Given the description of an element on the screen output the (x, y) to click on. 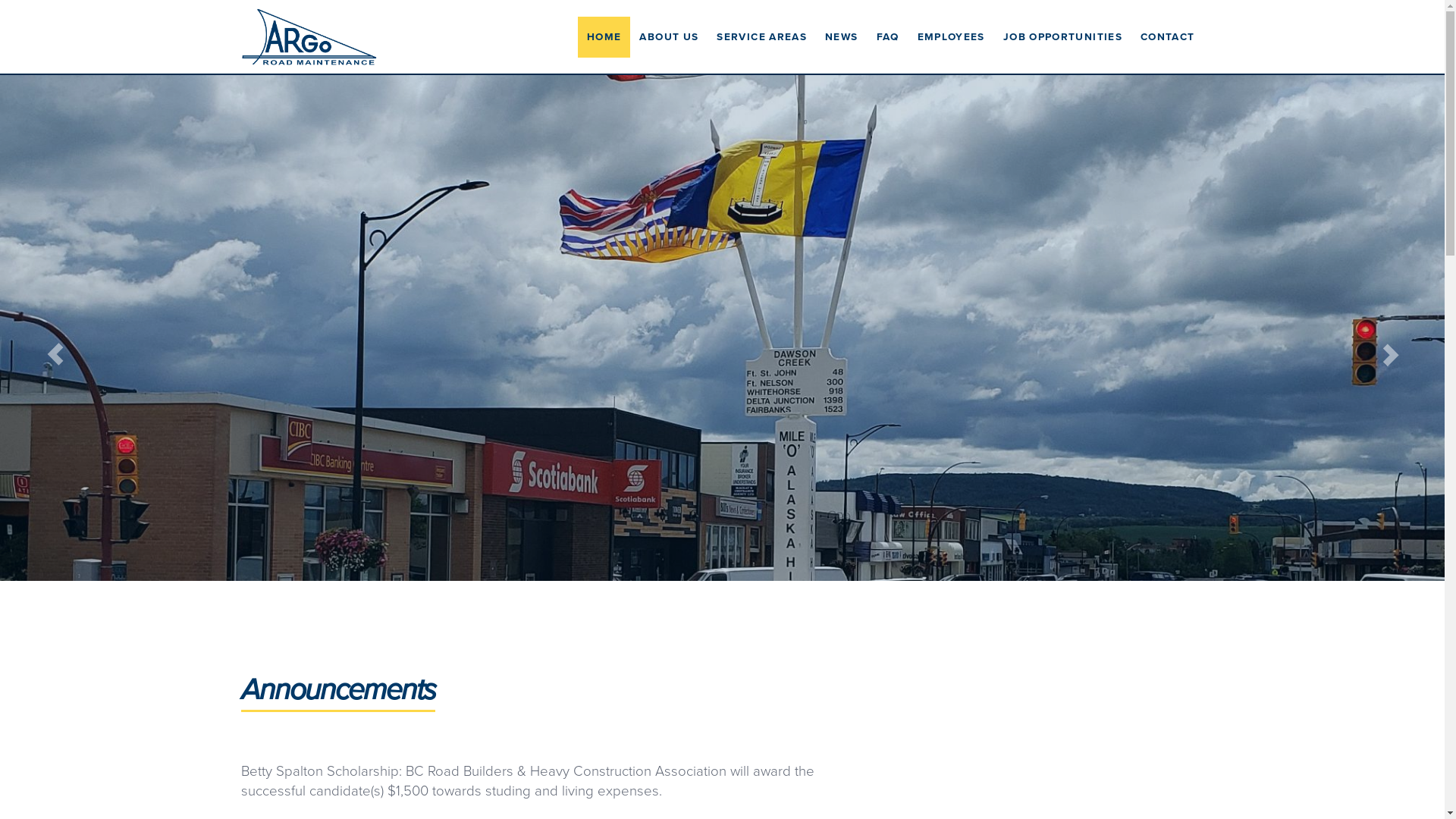
EMPLOYEES Element type: text (951, 36)
SERVICE AREAS Element type: text (761, 36)
FAQ Element type: text (887, 36)
ABOUT US Element type: text (668, 36)
CONTACT Element type: text (1167, 36)
Previous Element type: text (36, 327)
NEWS Element type: text (840, 36)
Next Element type: text (1408, 327)
HOME Element type: text (603, 36)
Argo Road Maintenance Element type: hover (309, 36)
JOB OPPORTUNITIES Element type: text (1062, 36)
